Given the description of an element on the screen output the (x, y) to click on. 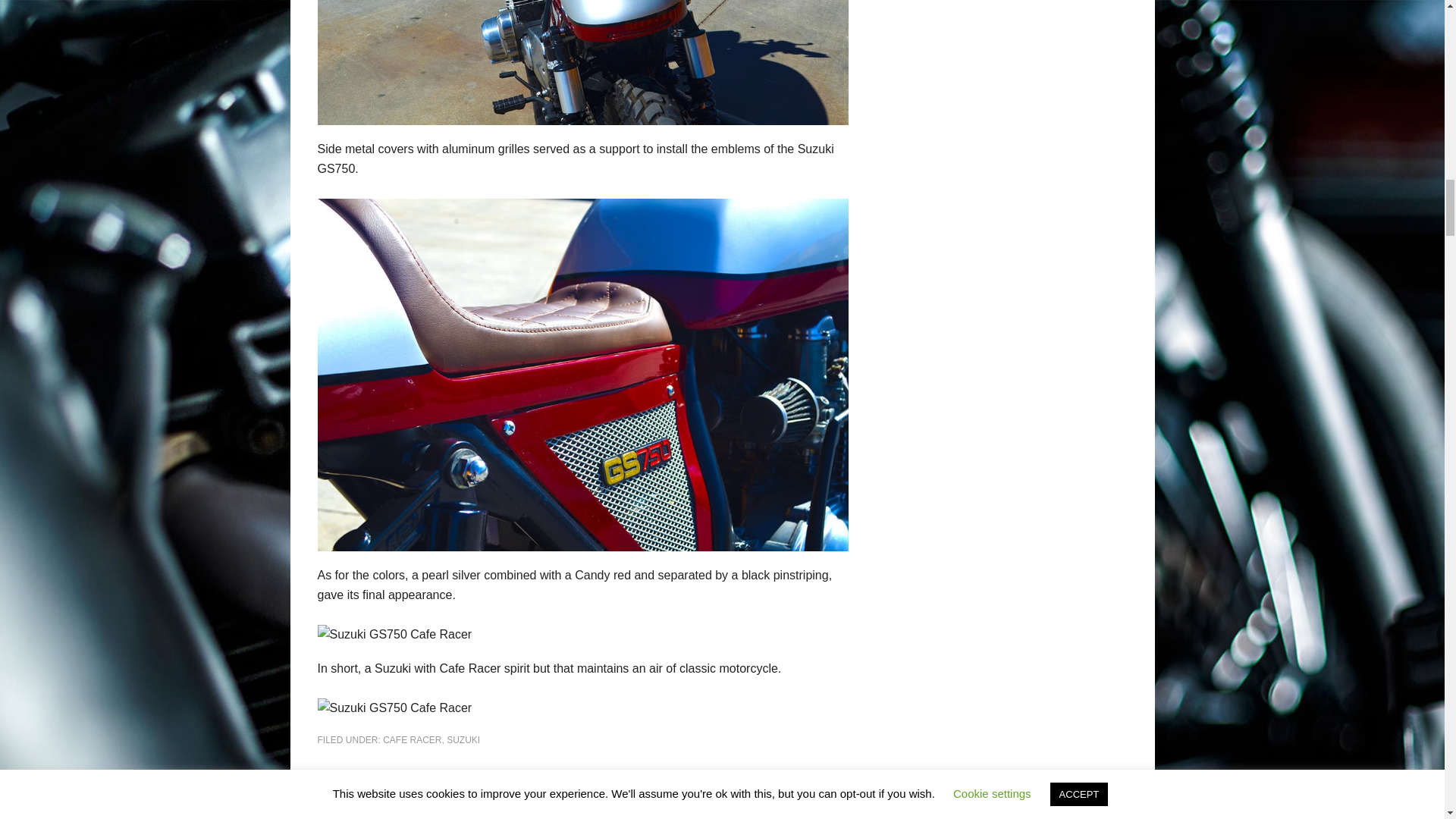
CAFE RACER (411, 739)
SUZUKI (463, 739)
